Given the description of an element on the screen output the (x, y) to click on. 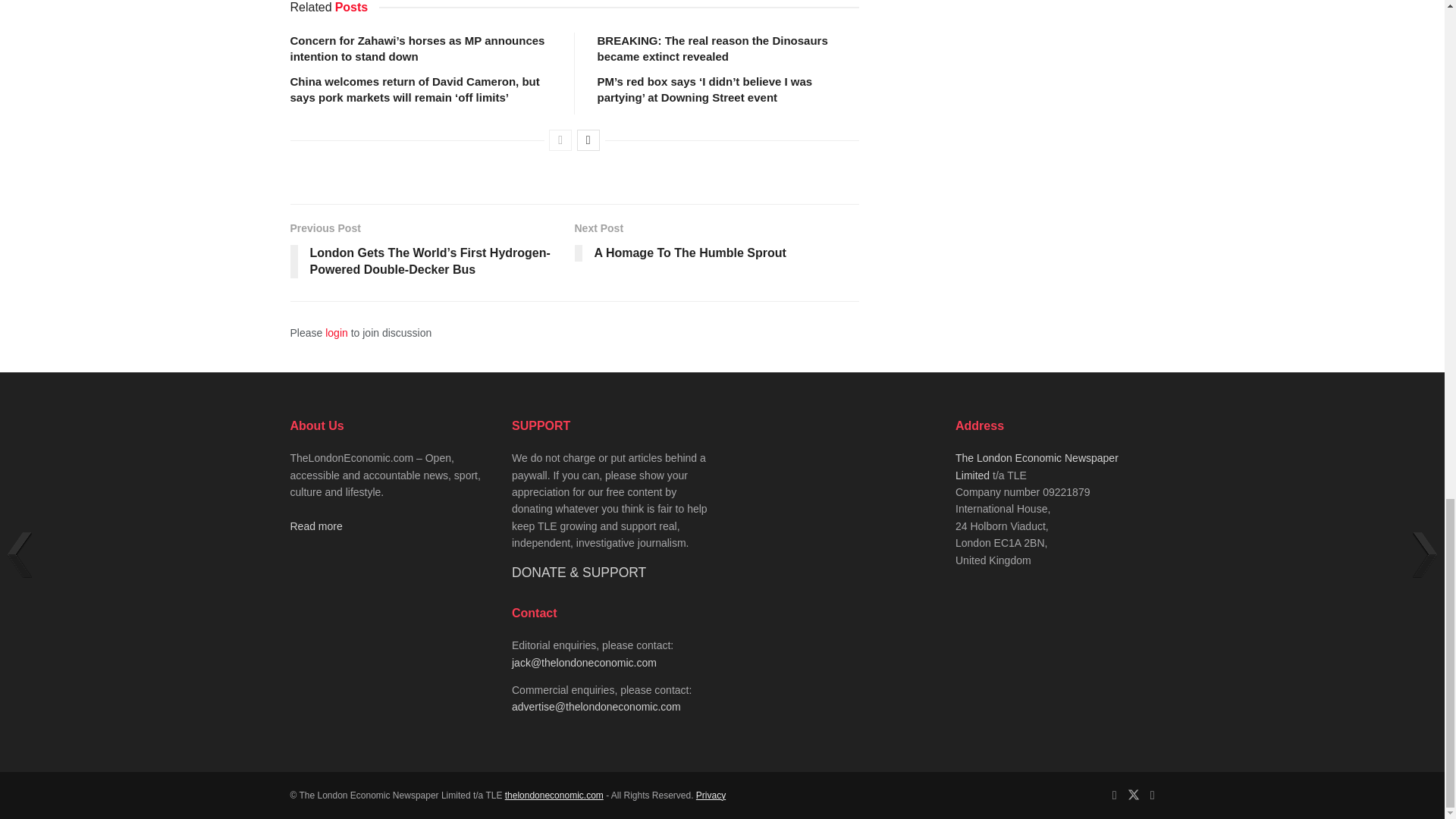
Next (587, 139)
Privacy (710, 795)
Previous (560, 139)
The London Economic (554, 795)
